Given the description of an element on the screen output the (x, y) to click on. 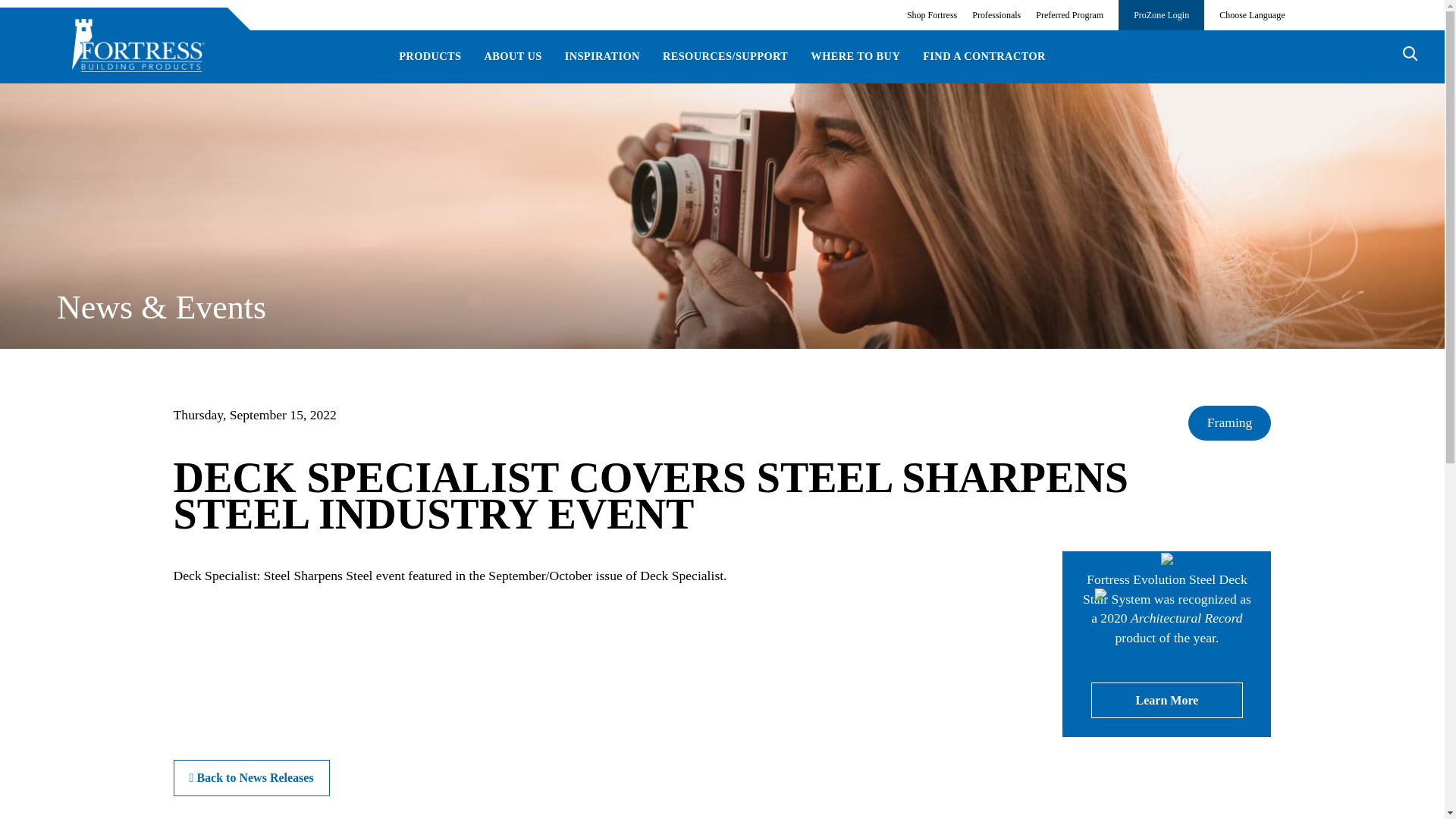
Professionals (996, 14)
Choose Language (1252, 14)
Shop Fortress (931, 14)
ProZone Login (1161, 15)
PRODUCTS (429, 56)
Preferred Program (1069, 14)
ABOUT US (512, 56)
